Given the description of an element on the screen output the (x, y) to click on. 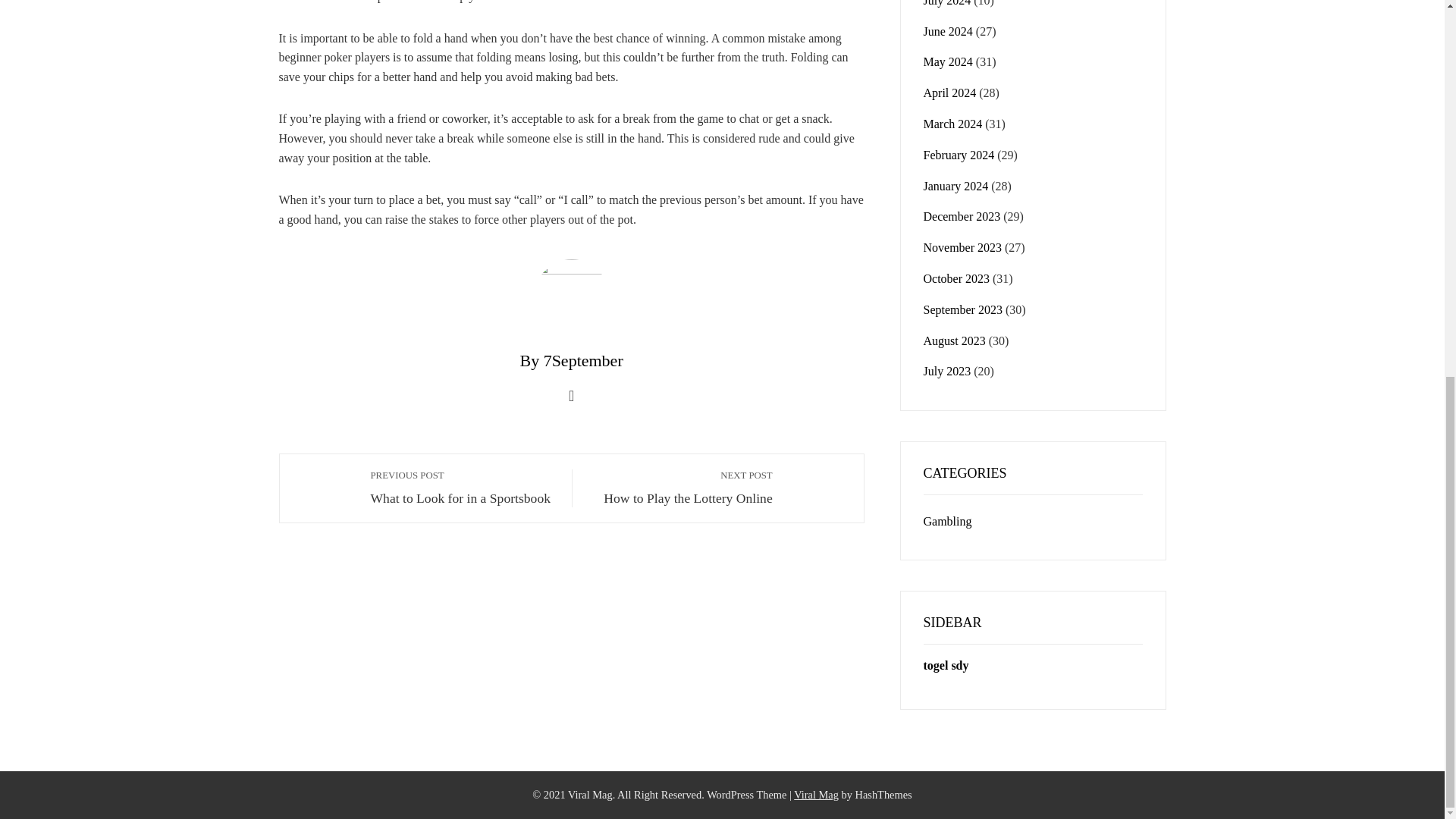
April 2024 (949, 92)
September 2023 (963, 309)
December 2023 (962, 215)
January 2024 (955, 185)
March 2024 (462, 487)
Gambling (952, 123)
May 2024 (947, 521)
November 2023 (947, 61)
togel sdy (963, 246)
